Given the description of an element on the screen output the (x, y) to click on. 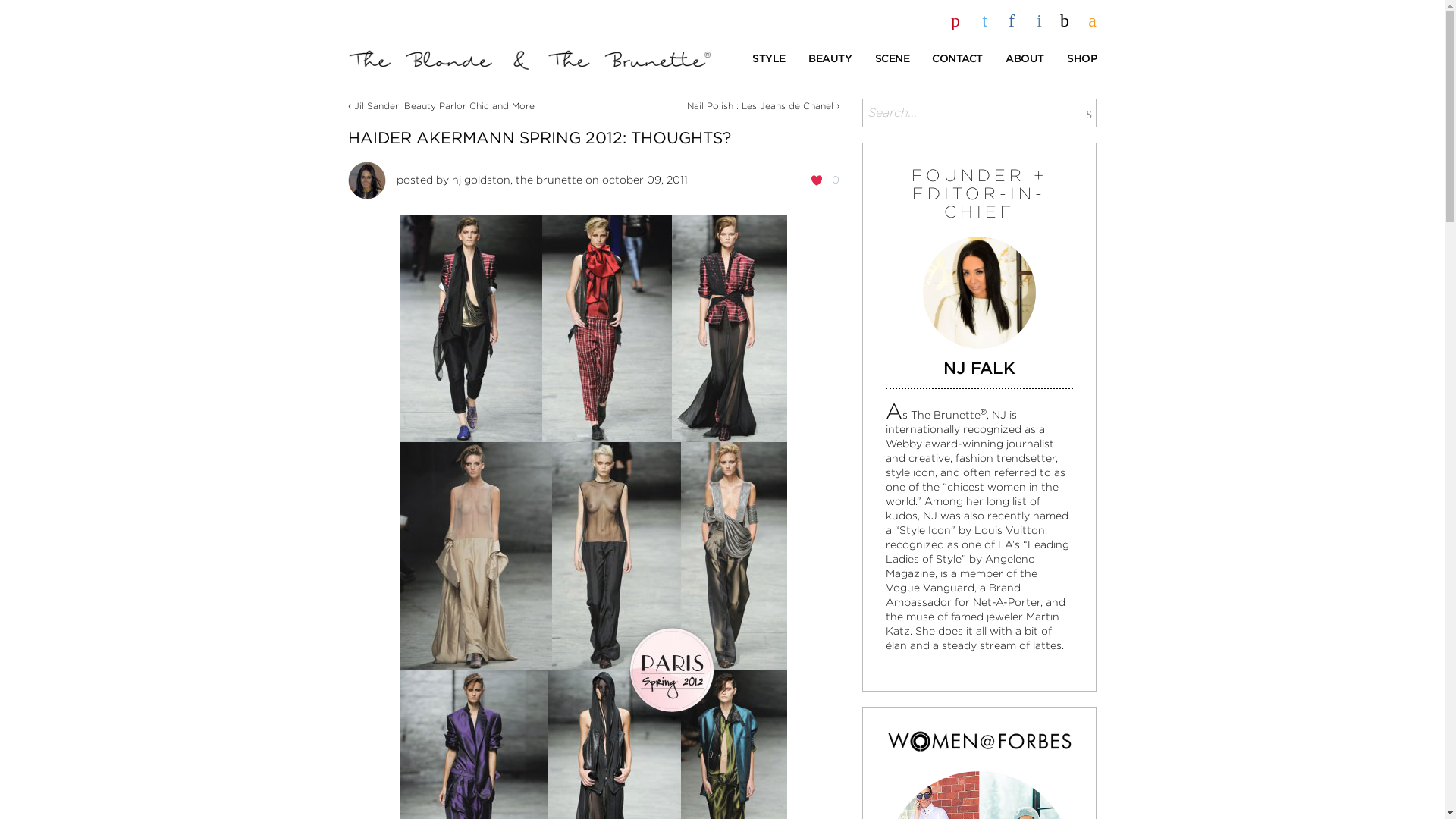
STYLE (769, 59)
SHOP (1081, 59)
ABOUT (1024, 59)
Permanent Link to Haider Akermann Spring 2012: Thoughts? (538, 137)
SCENE (892, 59)
BEAUTY (829, 59)
CONTACT (956, 59)
